Given the description of an element on the screen output the (x, y) to click on. 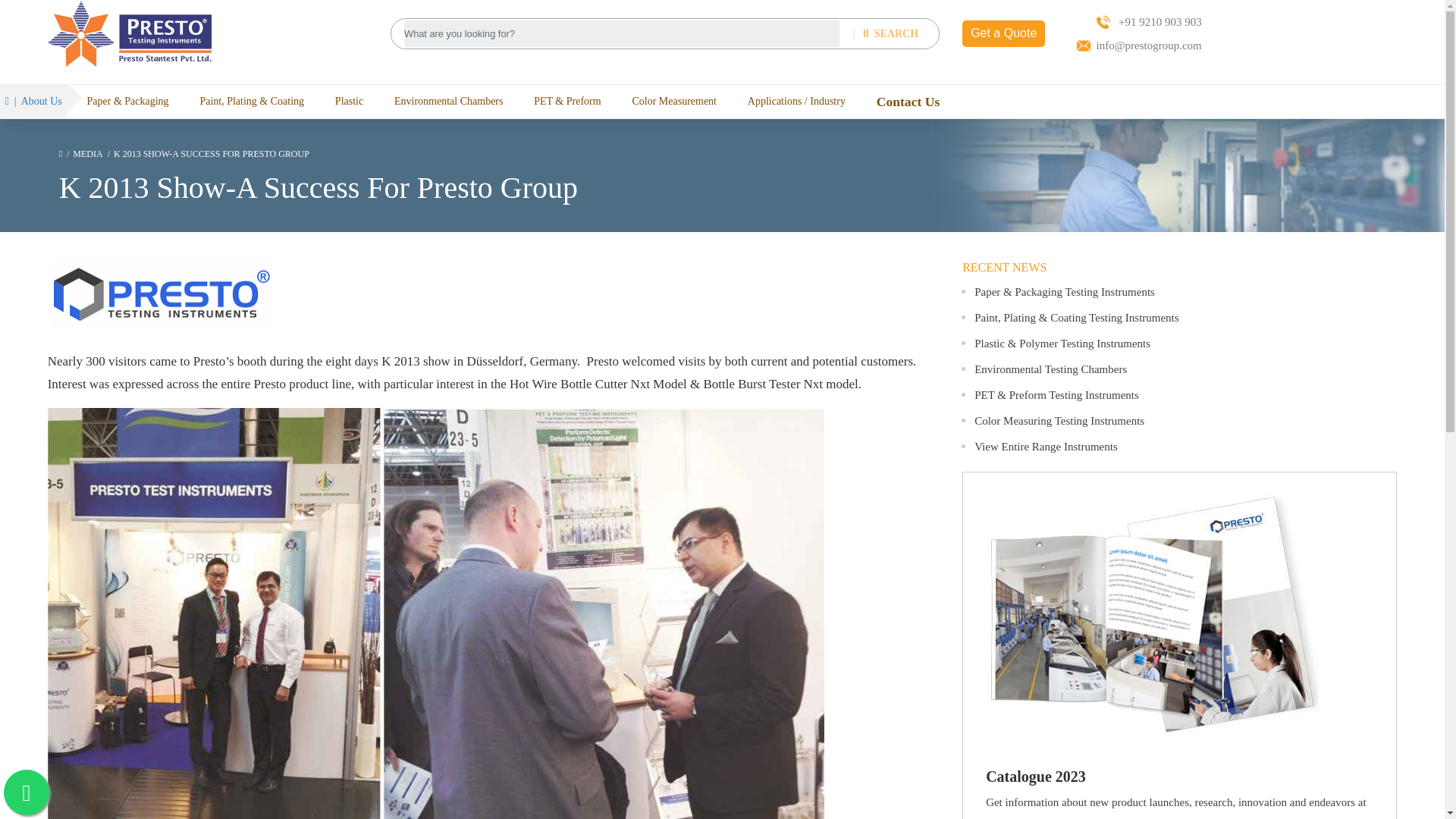
Color Measurement (674, 100)
Plastic (349, 100)
Get a Quote (1003, 33)
Contact Us (908, 101)
Environmental Chambers (448, 100)
